Given the description of an element on the screen output the (x, y) to click on. 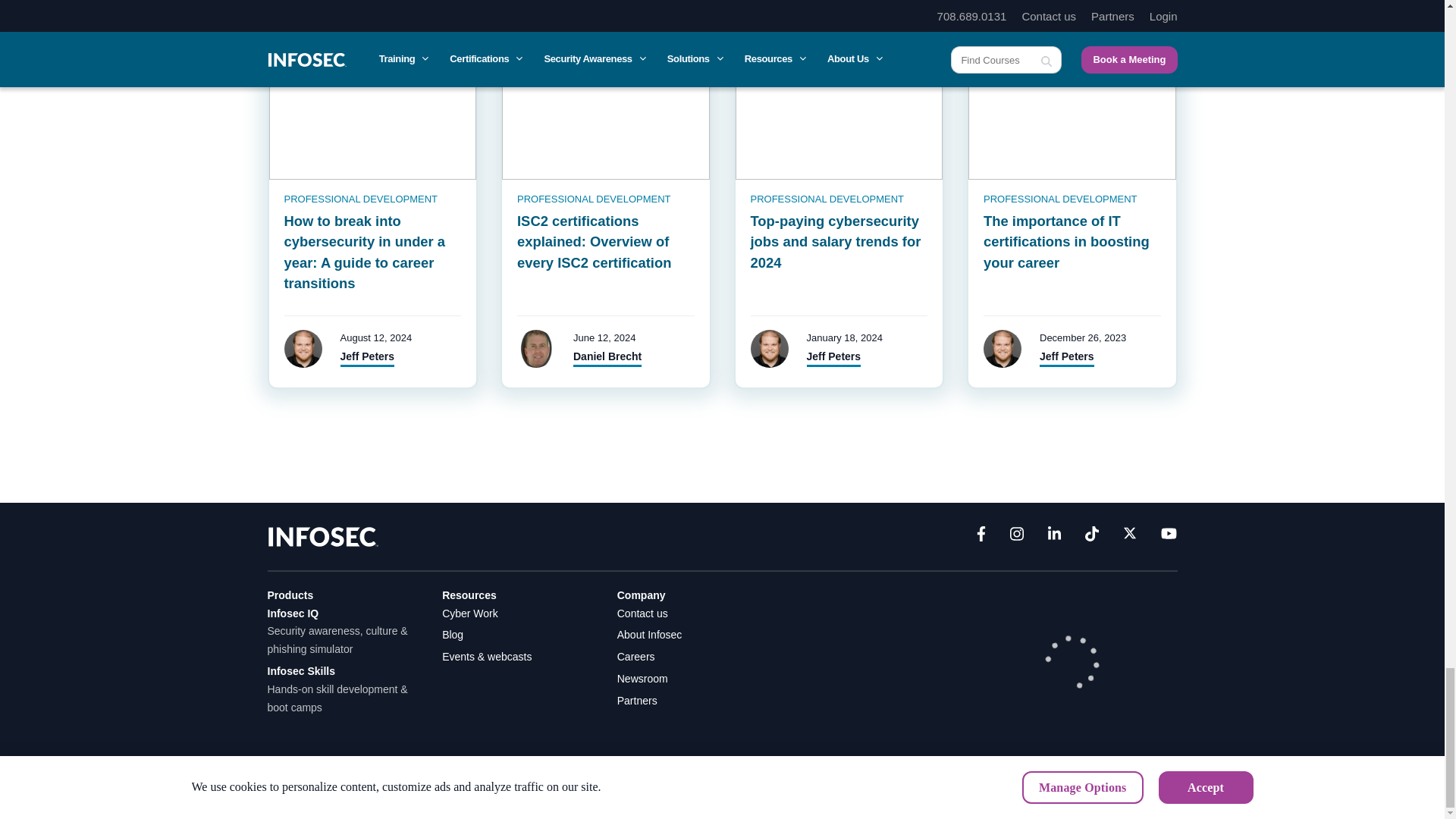
LinkedIn (1054, 536)
Infosec (322, 535)
Instagram (1016, 536)
